Given the description of an element on the screen output the (x, y) to click on. 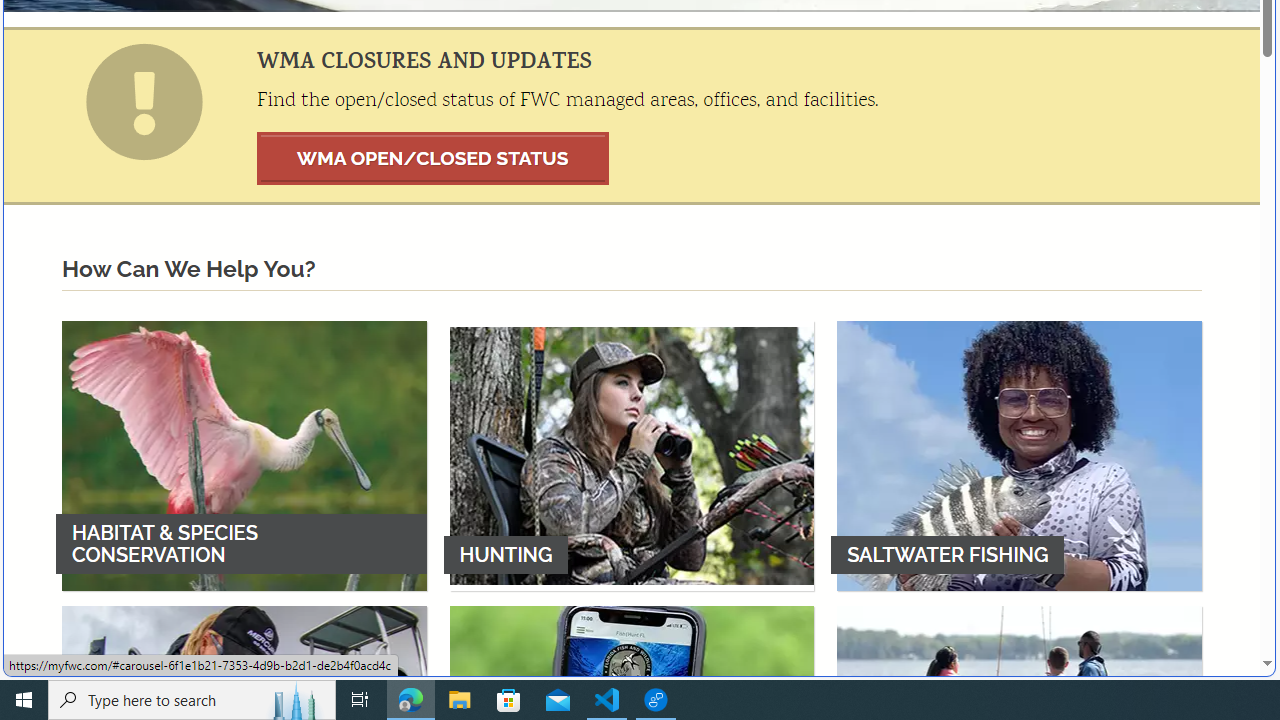
WMA OPEN/CLOSED STATUS (433, 158)
HUNTING (632, 455)
HABITAT & SPECIES CONSERVATION (244, 455)
SALTWATER FISHING (1019, 455)
